Given the description of an element on the screen output the (x, y) to click on. 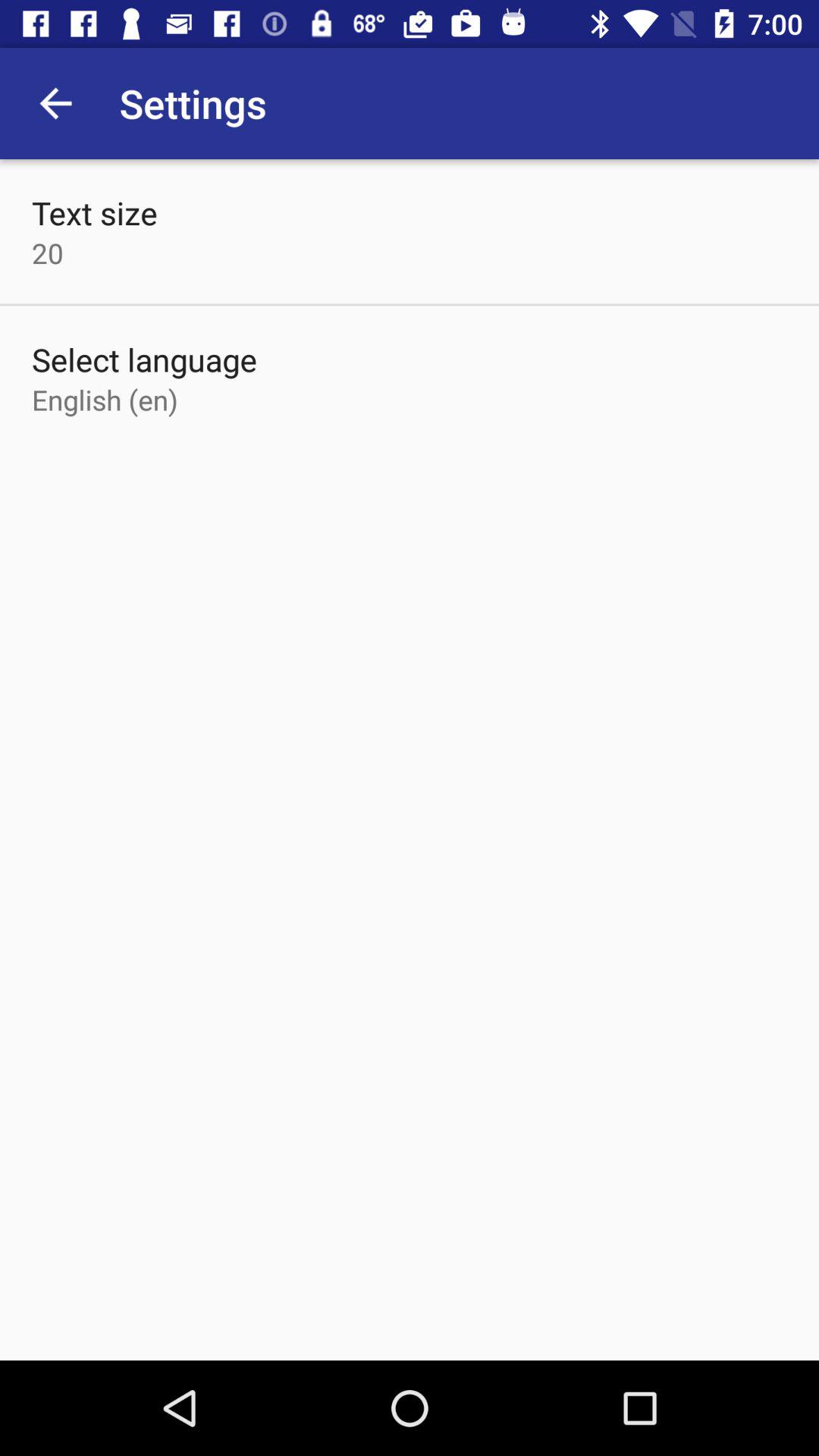
press english (en) (104, 399)
